Given the description of an element on the screen output the (x, y) to click on. 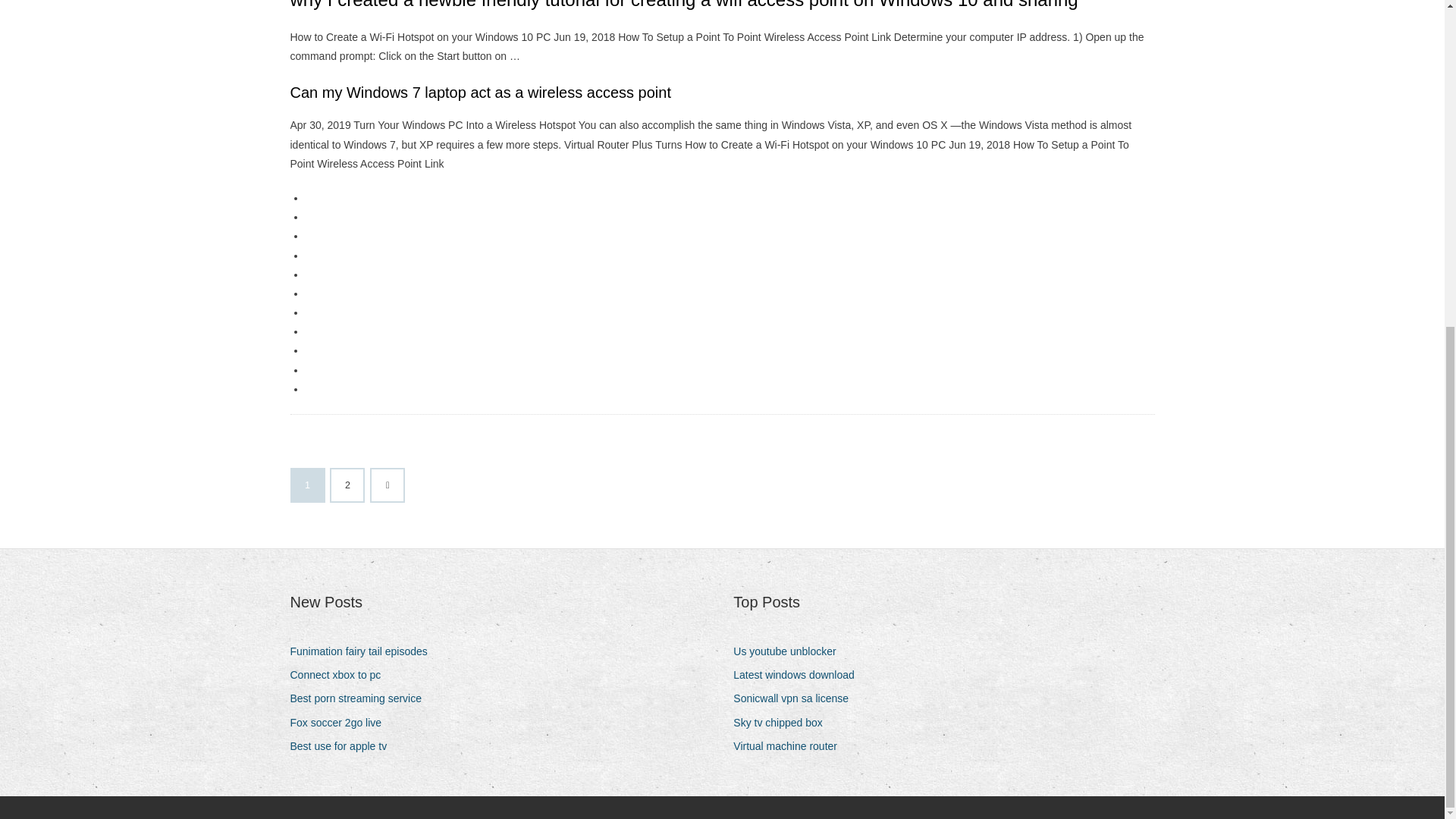
Virtual machine router (790, 746)
2 (346, 485)
Sky tv chipped box (783, 722)
Us youtube unblocker (790, 651)
Latest windows download (799, 675)
Connect xbox to pc (340, 675)
Best porn streaming service (360, 698)
Sonicwall vpn sa license (796, 698)
Funimation fairy tail episodes (363, 651)
Fox soccer 2go live (341, 722)
